Given the description of an element on the screen output the (x, y) to click on. 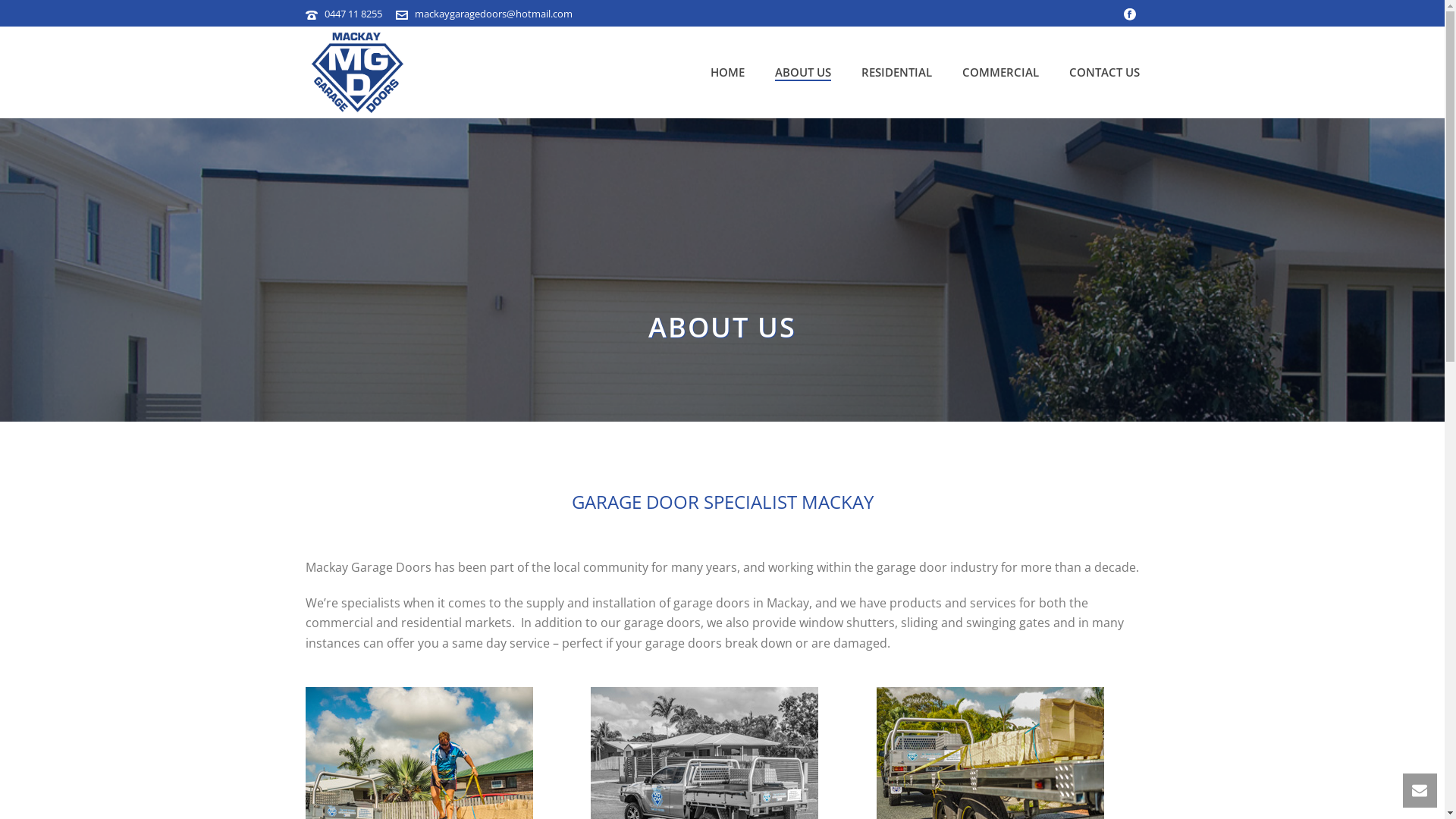
COMMERCIAL Element type: text (999, 72)
HOME Element type: text (726, 72)
ABOUT US Element type: text (802, 72)
RESIDENTIAL Element type: text (896, 72)
mackaygaragedoors@hotmail.com Element type: text (492, 13)
0447 11 8255 Element type: text (353, 13)
CONTACT US Element type: text (1104, 72)
Garage Doors Commercial & Residential Element type: hover (357, 71)
